Given the description of an element on the screen output the (x, y) to click on. 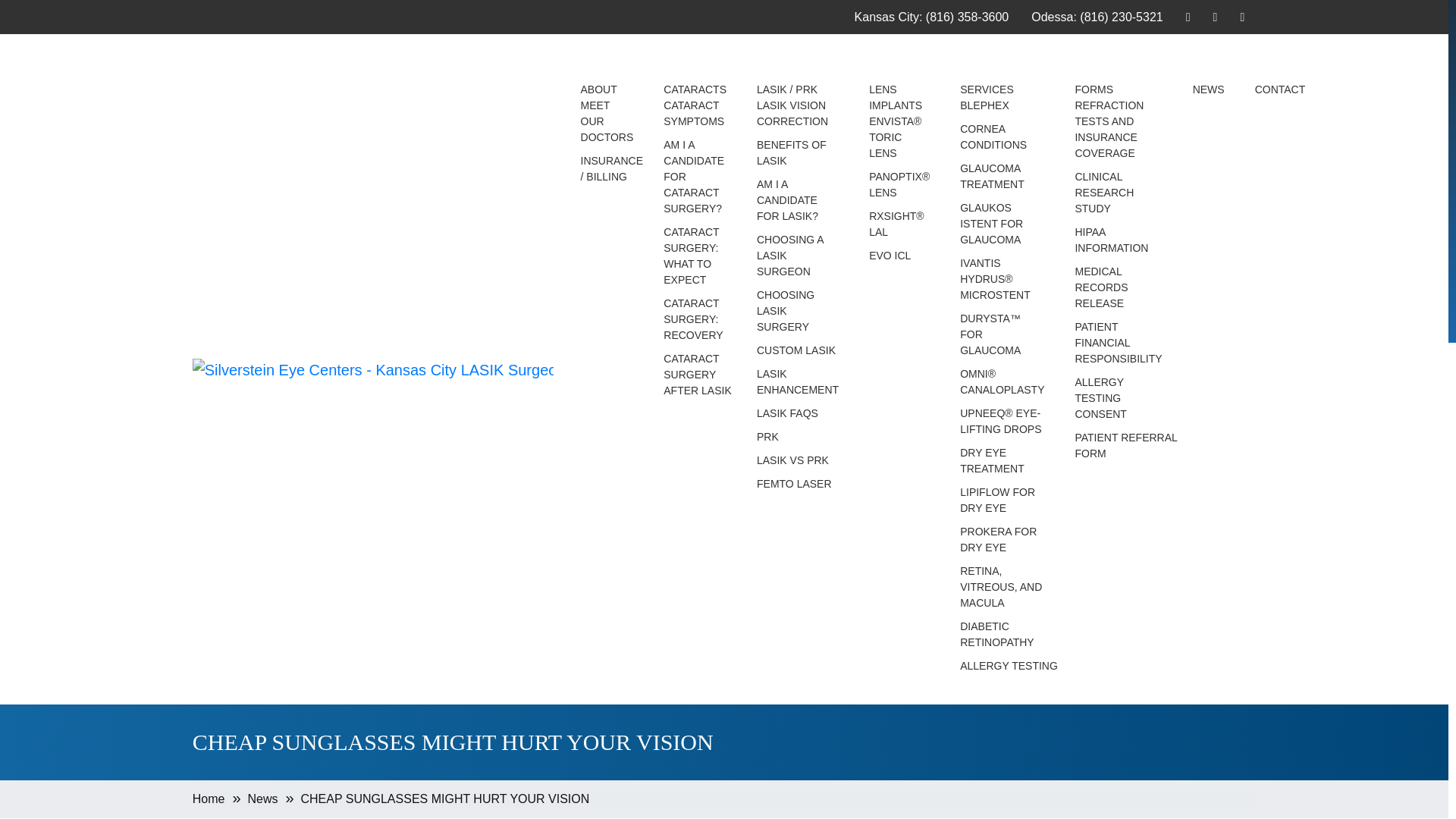
BENEFITS OF LASIK (797, 152)
Go to News. (262, 798)
ABOUT (607, 89)
MEET OUR DOCTORS (607, 121)
CATARACT SYMPTOMS (694, 113)
BLEPHEX (1001, 105)
LASIK ENHANCEMENT (797, 382)
CUSTOM LASIK (797, 350)
AM I A CANDIDATE FOR LASIK? (797, 200)
LENS IMPLANTS (898, 97)
